Given the description of an element on the screen output the (x, y) to click on. 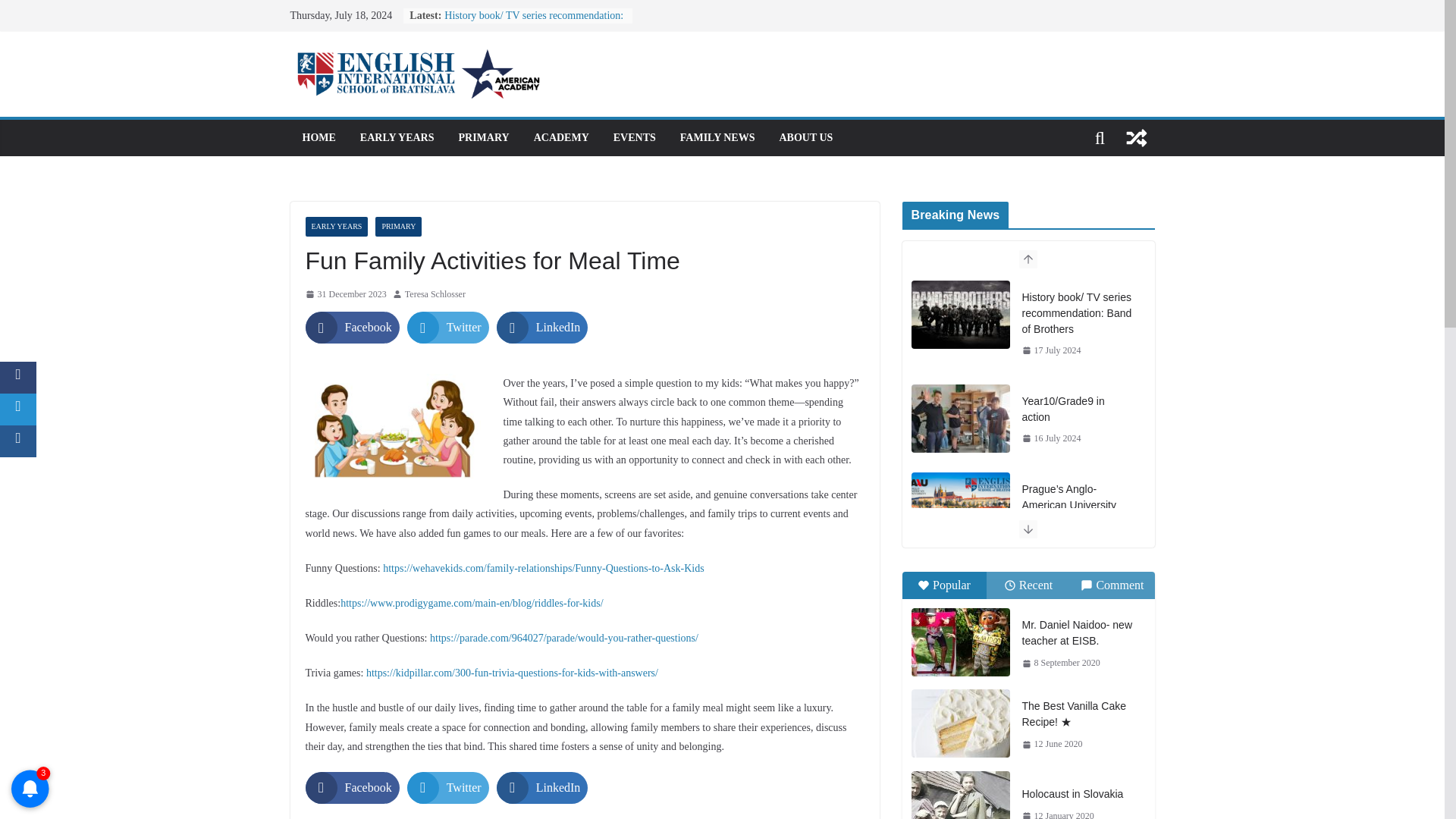
Teresa Schlosser (434, 294)
Twitter (448, 327)
ABOUT US (805, 137)
ACADEMY (561, 137)
31 December 2023 (344, 294)
16:23 (344, 294)
Teresa Schlosser (434, 294)
LinkedIn (542, 327)
Facebook (351, 327)
View a random post (1136, 137)
HOME (317, 137)
PRIMARY (483, 137)
EARLY YEARS (336, 226)
Facebook (351, 787)
Twitter (448, 787)
